Given the description of an element on the screen output the (x, y) to click on. 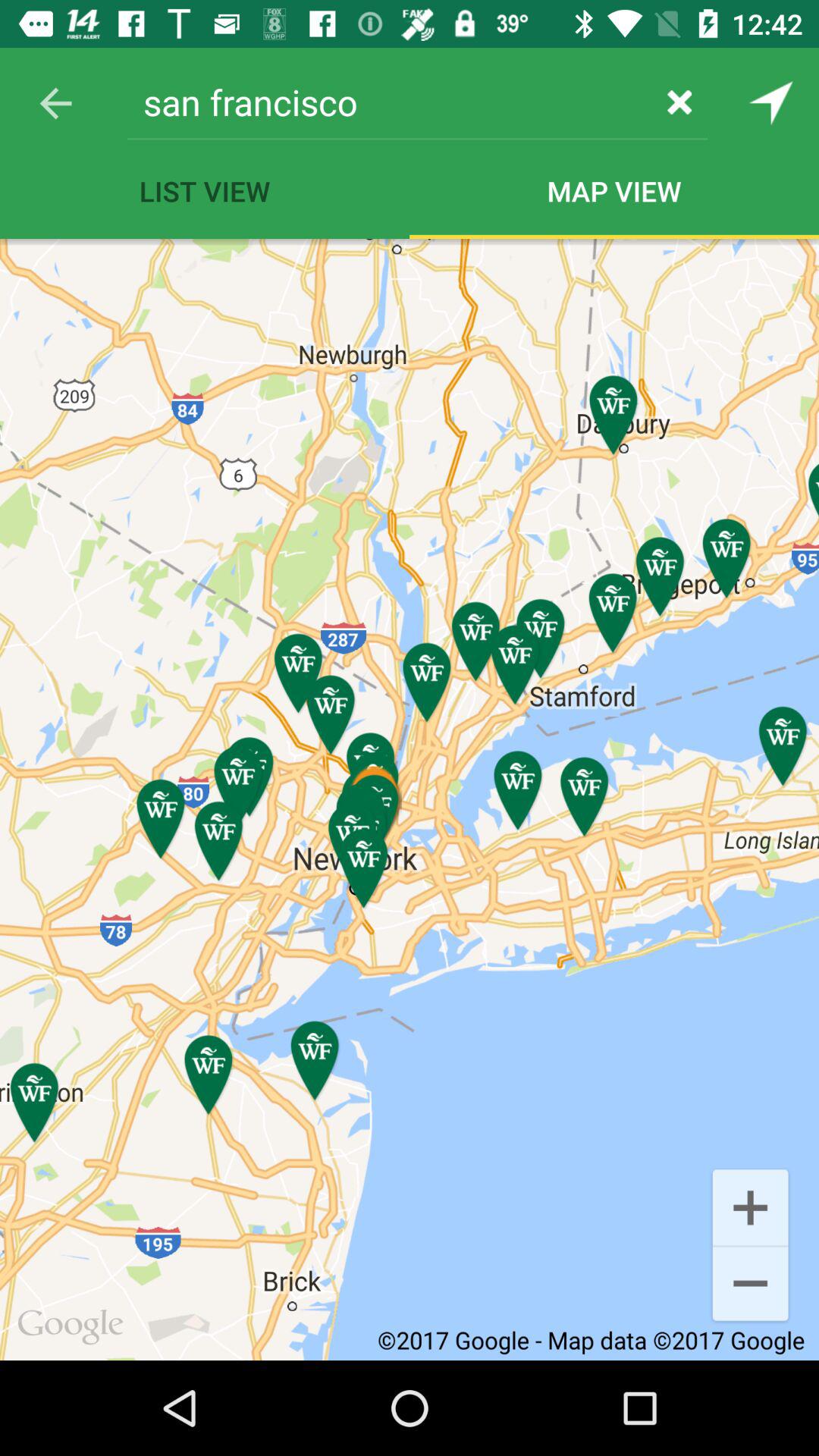
turn off item to the right of san francisco item (679, 102)
